Given the description of an element on the screen output the (x, y) to click on. 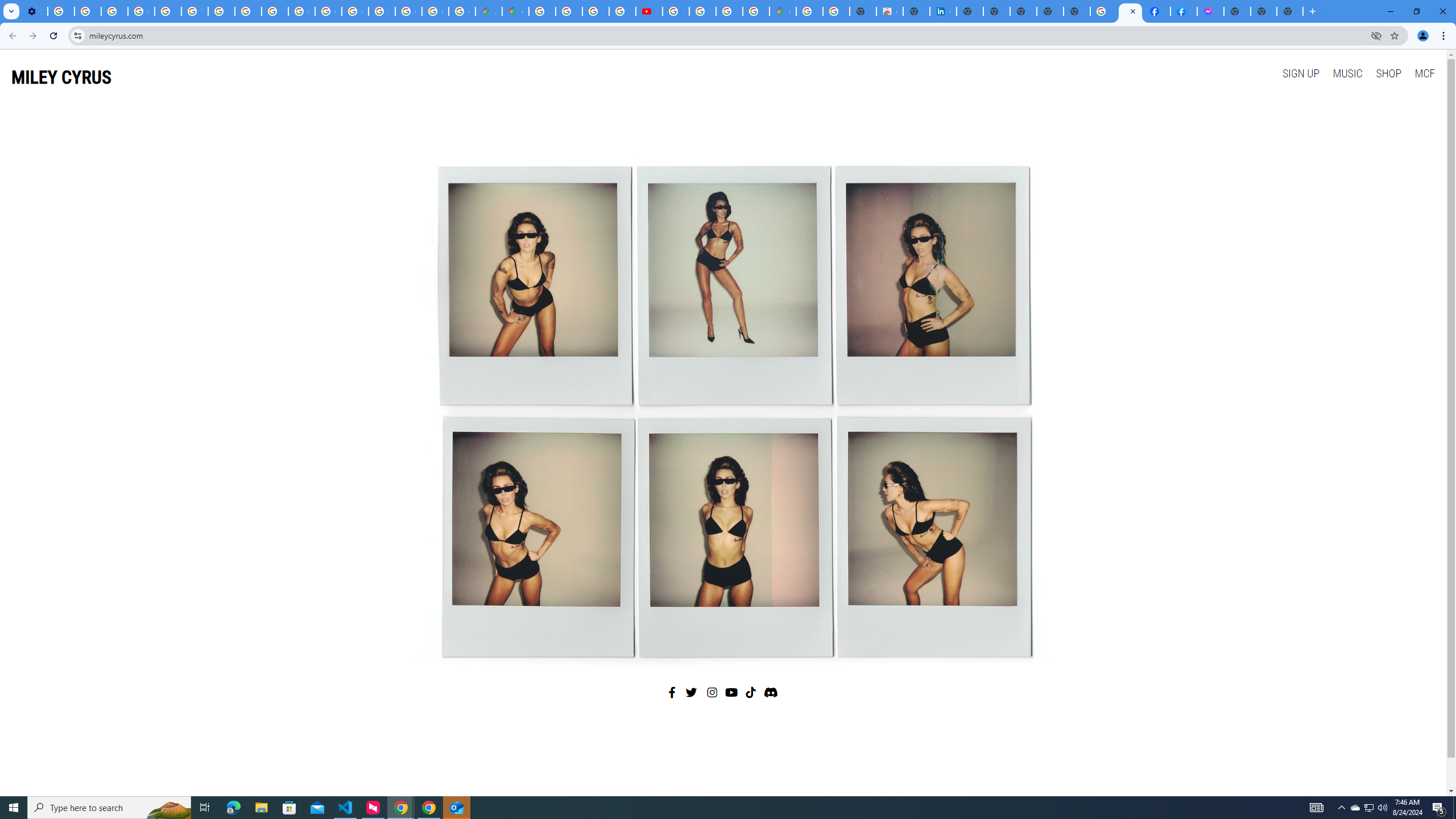
SIGN UP (1300, 73)
Sign in - Google Accounts (382, 11)
Google Maps (782, 11)
Privacy Help Center - Policies Help (167, 11)
Cookie Policy | LinkedIn (943, 11)
Facebook (671, 692)
Delete photos & videos - Computer - Google Photos Help (61, 11)
